Given the description of an element on the screen output the (x, y) to click on. 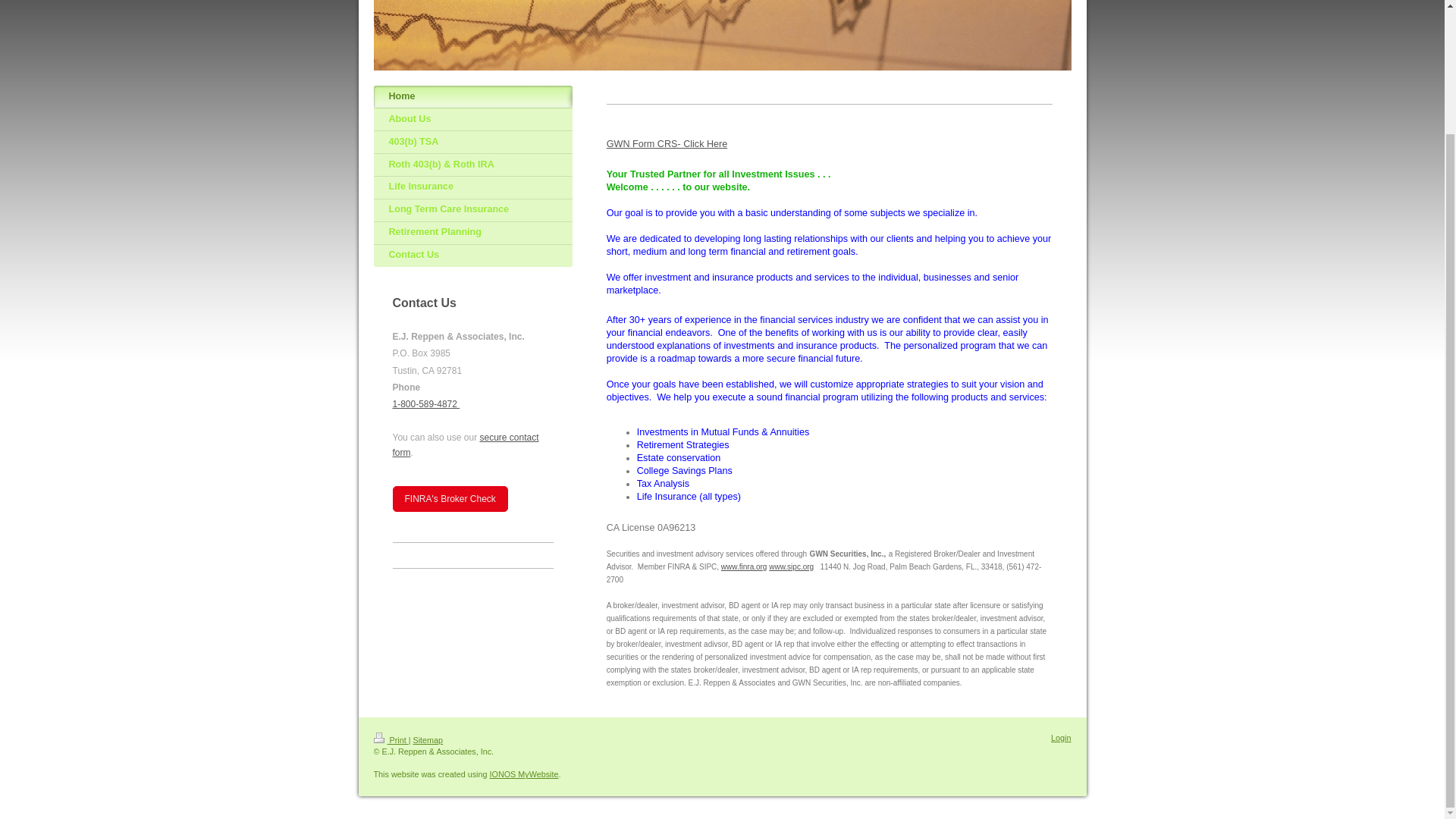
Long Term Care Insurance (472, 210)
www.finra.org (743, 566)
1-800-589-4872  (426, 403)
GWN Form CRS- Click Here (667, 143)
Login (1060, 737)
www.sipc.org (790, 566)
Print (389, 739)
Home (472, 96)
Sitemap (428, 739)
Life Insurance (472, 187)
